Given the description of an element on the screen output the (x, y) to click on. 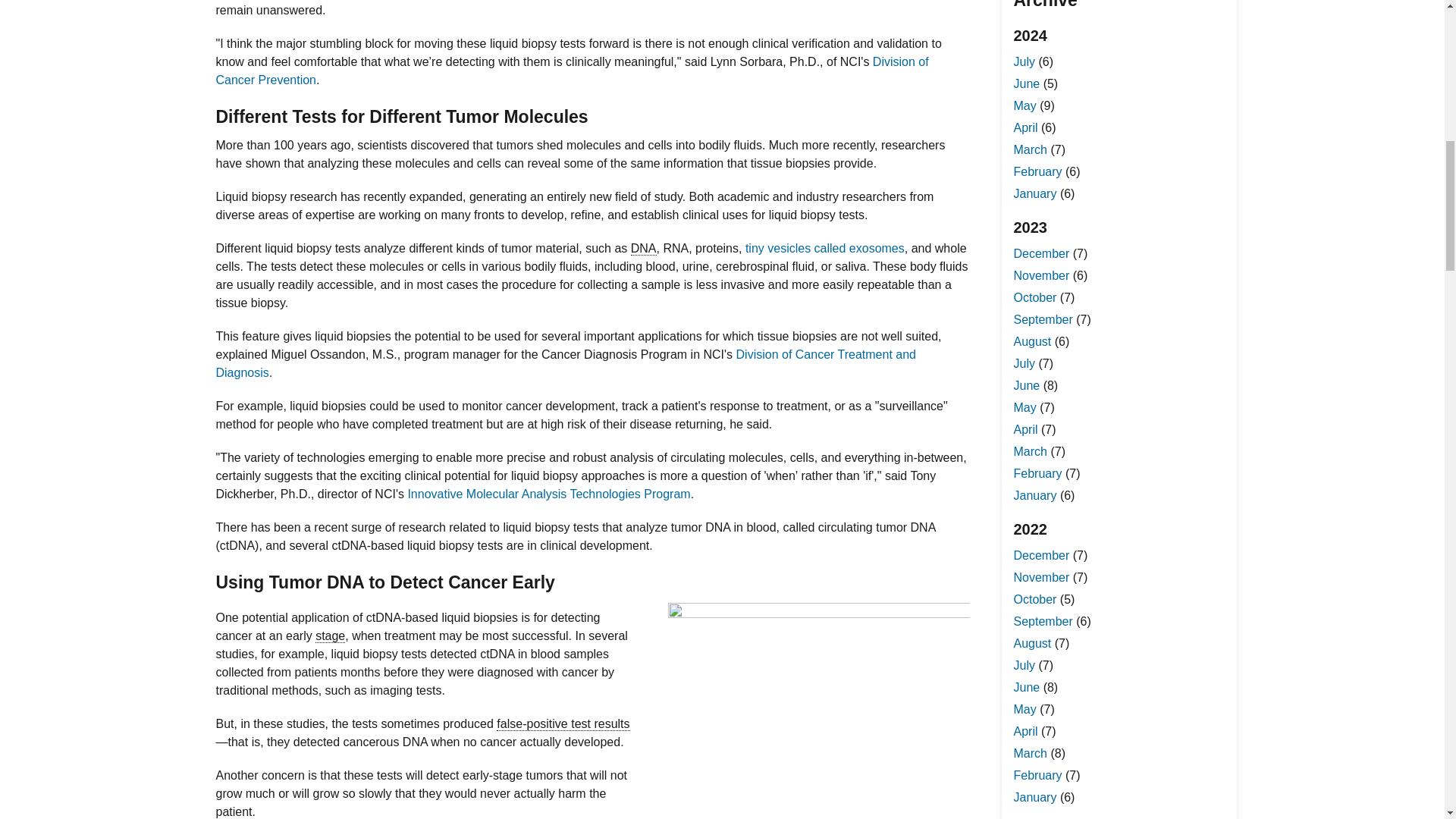
stage (330, 635)
Division of Cancer Prevention (571, 70)
tiny vesicles called exosomes (824, 247)
DNA (643, 248)
false-positive test results (562, 724)
Innovative Molecular Analysis Technologies Program (548, 493)
Division of Cancer Treatment and Diagnosis (565, 363)
